Given the description of an element on the screen output the (x, y) to click on. 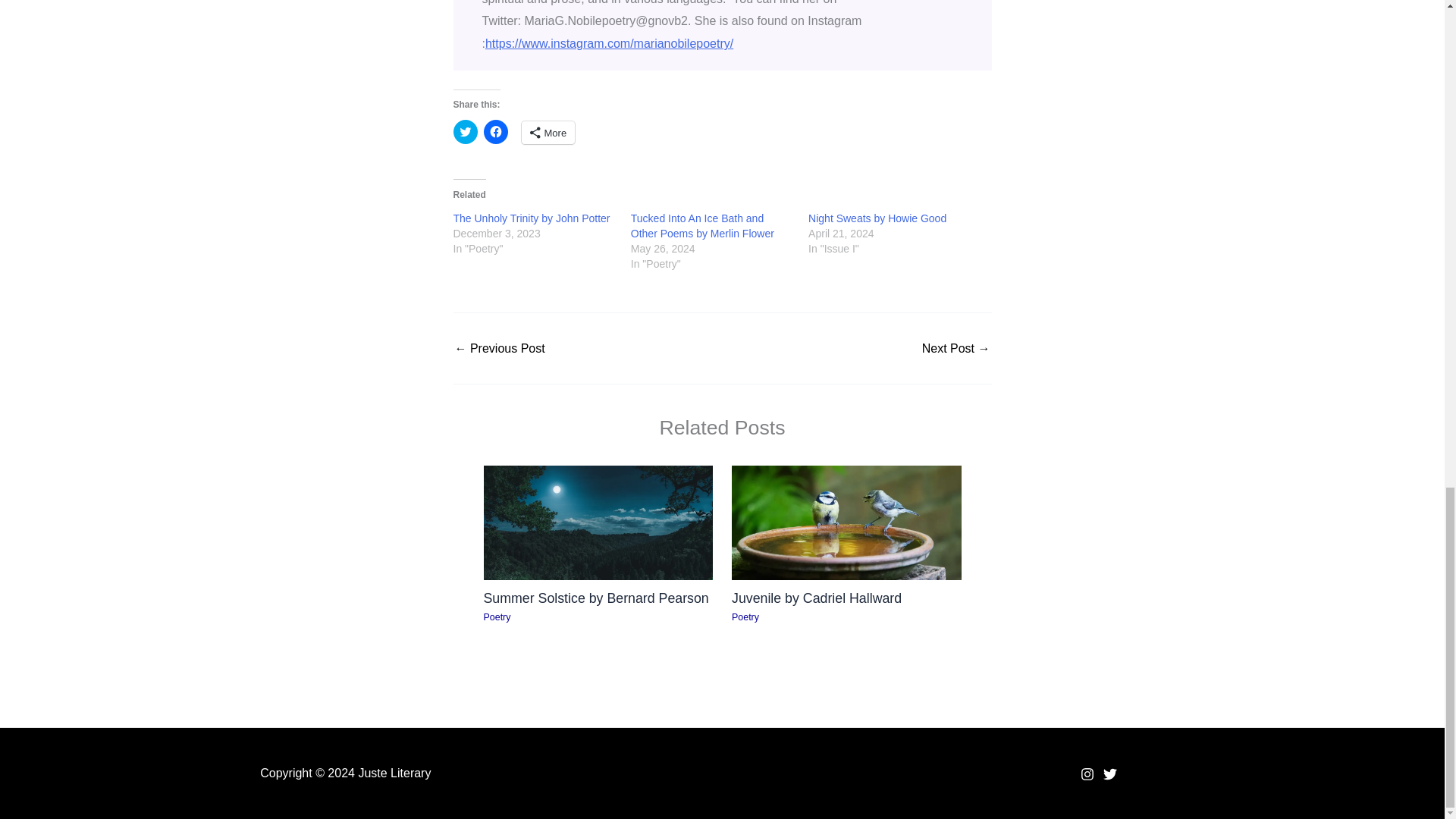
Poetry (497, 616)
Juvenile by Cadriel Hallward (816, 598)
The Unholy Trinity by John Potter (531, 218)
Click to share on Facebook (495, 131)
Night Sweats by Howie Good (877, 218)
Summer Solstice by Bernard Pearson (596, 598)
A Question of Trust and Witnessing by Jeffrey Zable (955, 348)
More (548, 132)
Tucked Into An Ice Bath and Other Poems by Merlin Flower (702, 225)
Dream's Death and other poems by Audrey Morales (499, 348)
Poetry (745, 616)
The Unholy Trinity by John Potter (531, 218)
Night Sweats by Howie Good (877, 218)
Click to share on Twitter (464, 131)
Tucked Into An Ice Bath and Other Poems by Merlin Flower (702, 225)
